Given the description of an element on the screen output the (x, y) to click on. 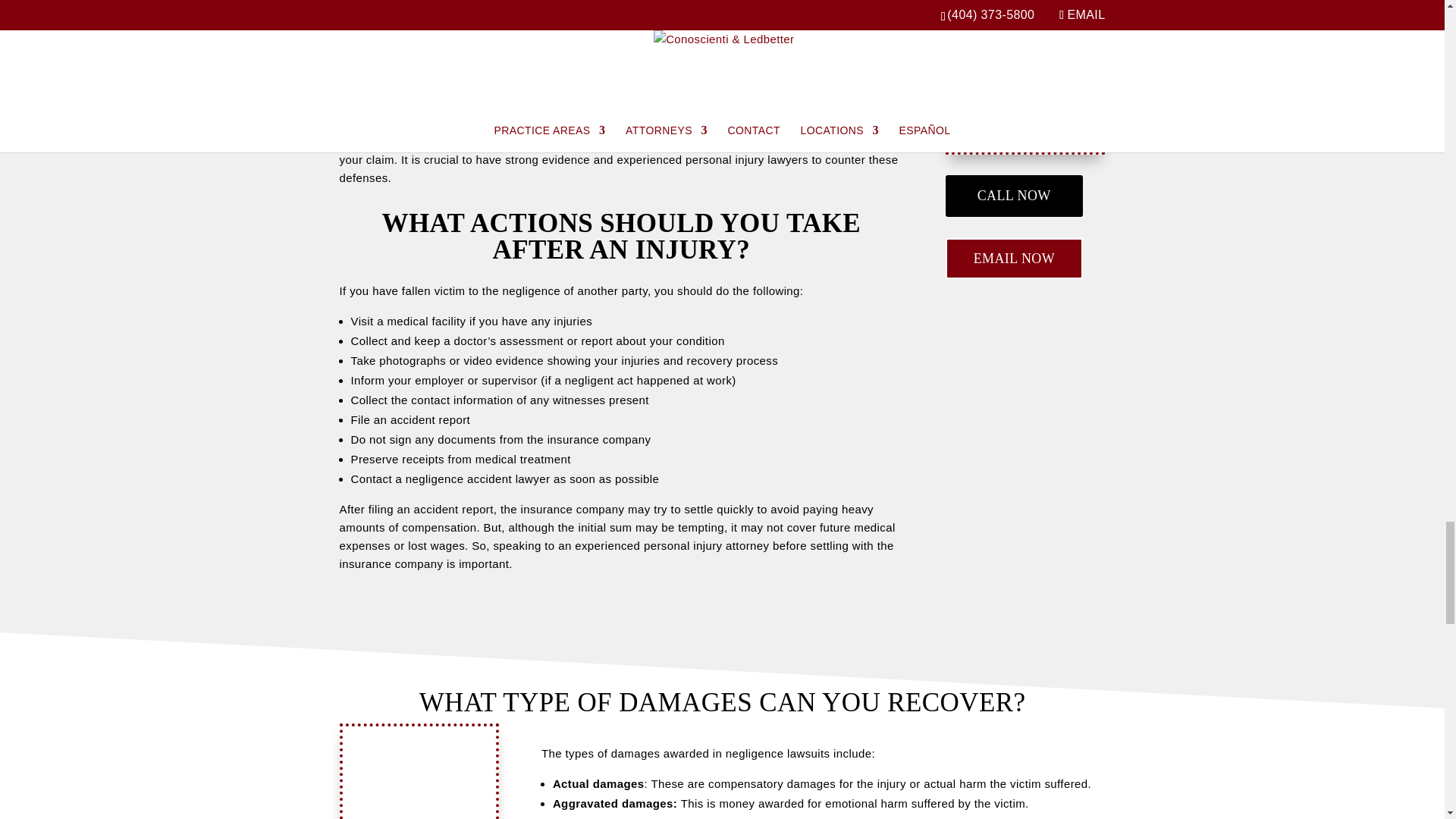
What Type of Damages Can You Recover (419, 772)
What Actions Should You Take After an Injury (1025, 99)
